Given the description of an element on the screen output the (x, y) to click on. 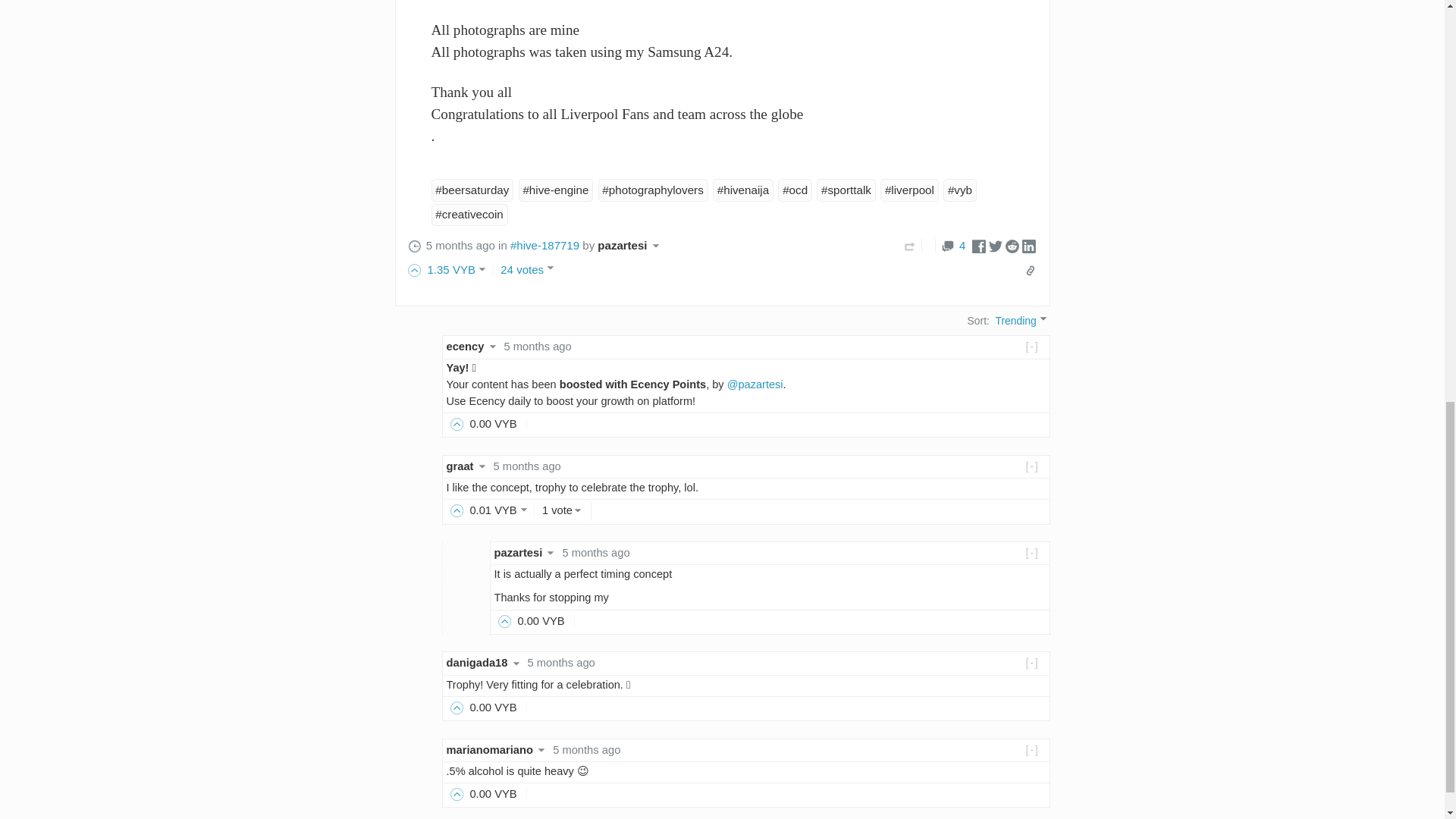
Share on Facebook (978, 245)
4 Responses (953, 245)
24 votes (528, 269)
Share on Reddit (1012, 245)
1.35 VYB (453, 269)
pazartesi (629, 245)
Share on Linkedin (1028, 245)
Share on Twitter (995, 245)
Share this post (1029, 270)
